Given the description of an element on the screen output the (x, y) to click on. 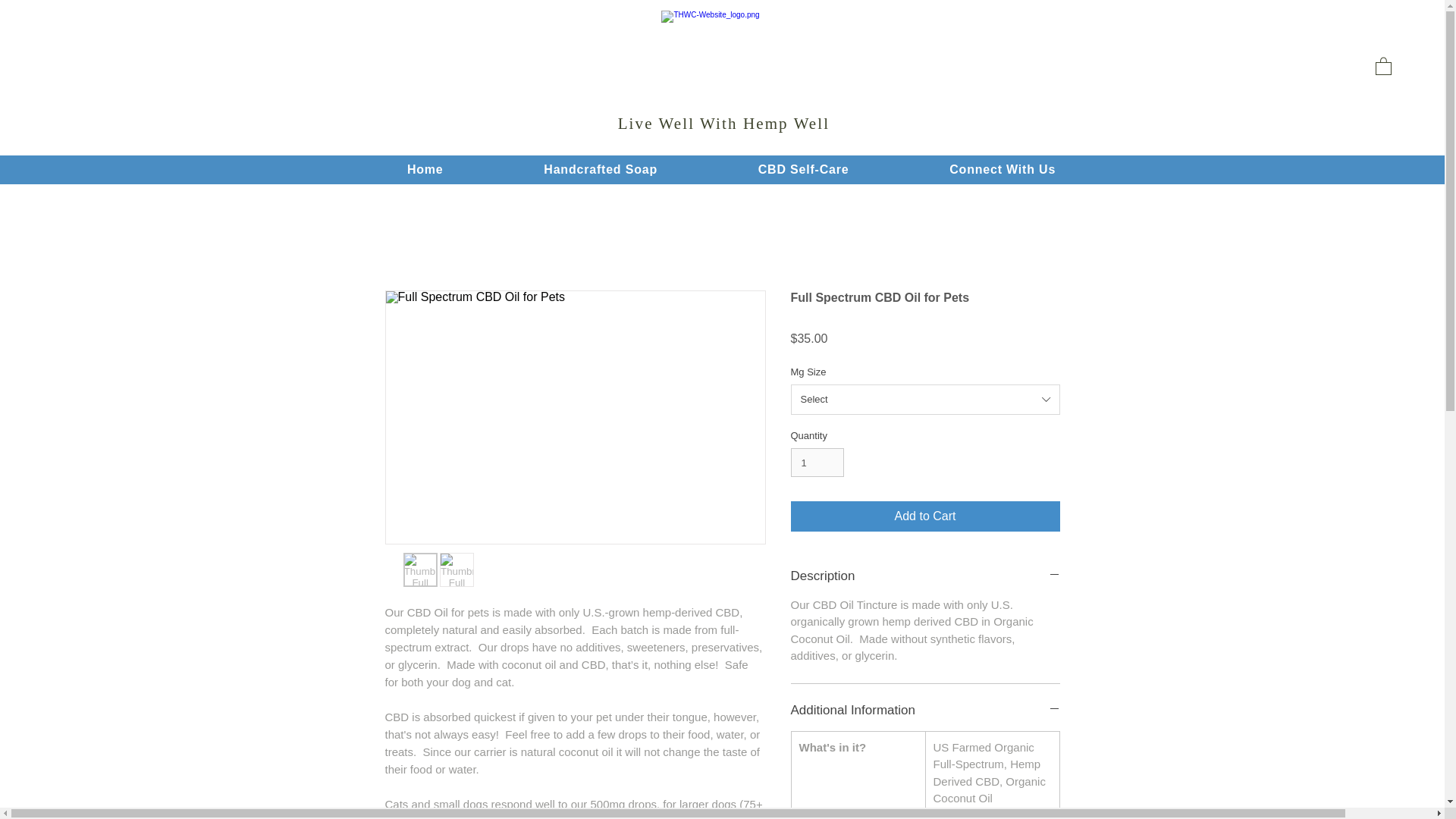
Additional Information (924, 709)
Add to Cart (924, 516)
Description (924, 575)
1 (817, 461)
Handcrafted Soap (600, 169)
Home (424, 169)
Connect With Us (1002, 169)
Select (924, 399)
